Given the description of an element on the screen output the (x, y) to click on. 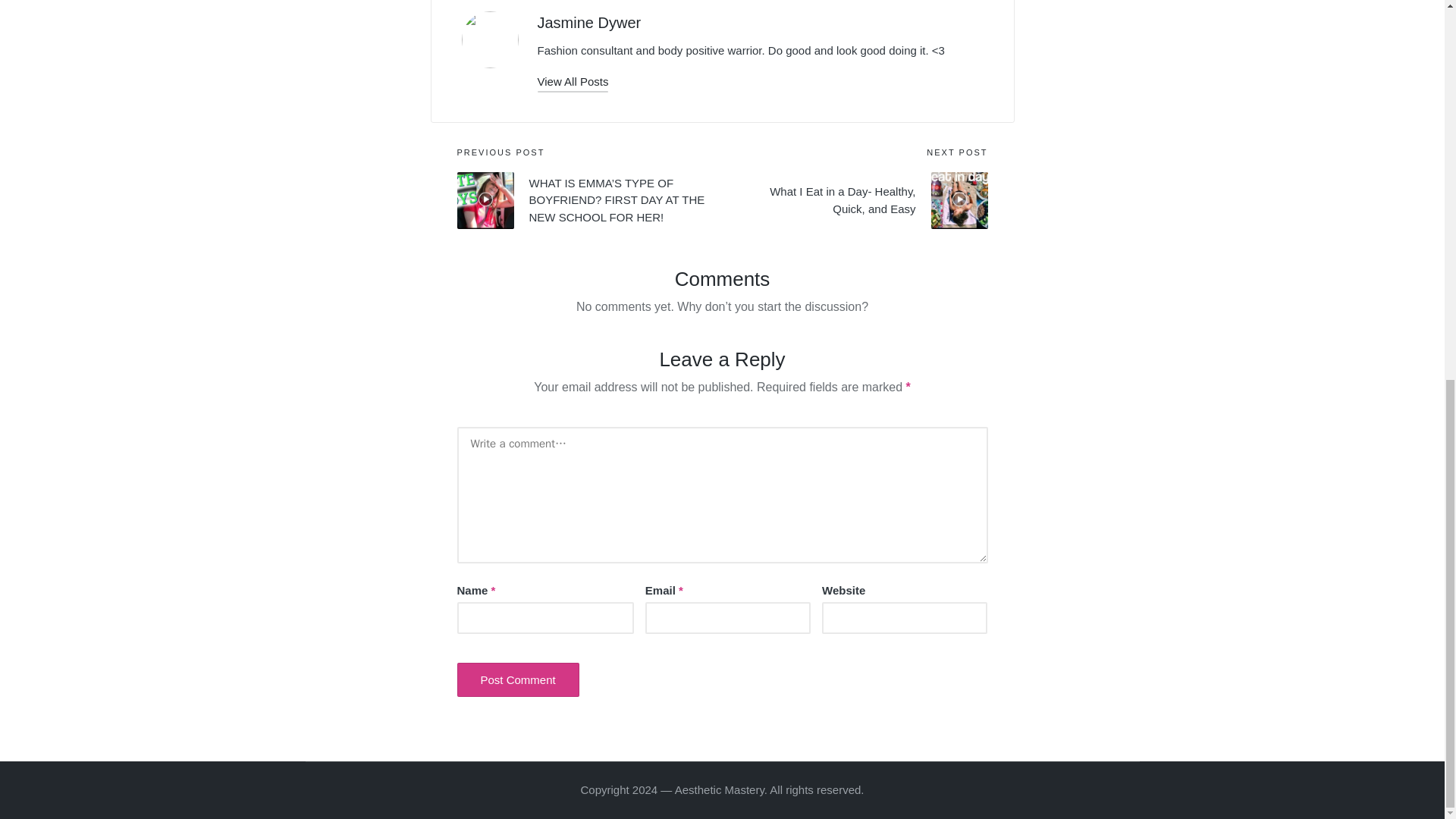
Post Comment (517, 679)
Jasmine Dywer (588, 22)
Post Comment (517, 679)
View All Posts (572, 81)
What I Eat in a Day- Healthy, Quick, and Easy (854, 200)
